Given the description of an element on the screen output the (x, y) to click on. 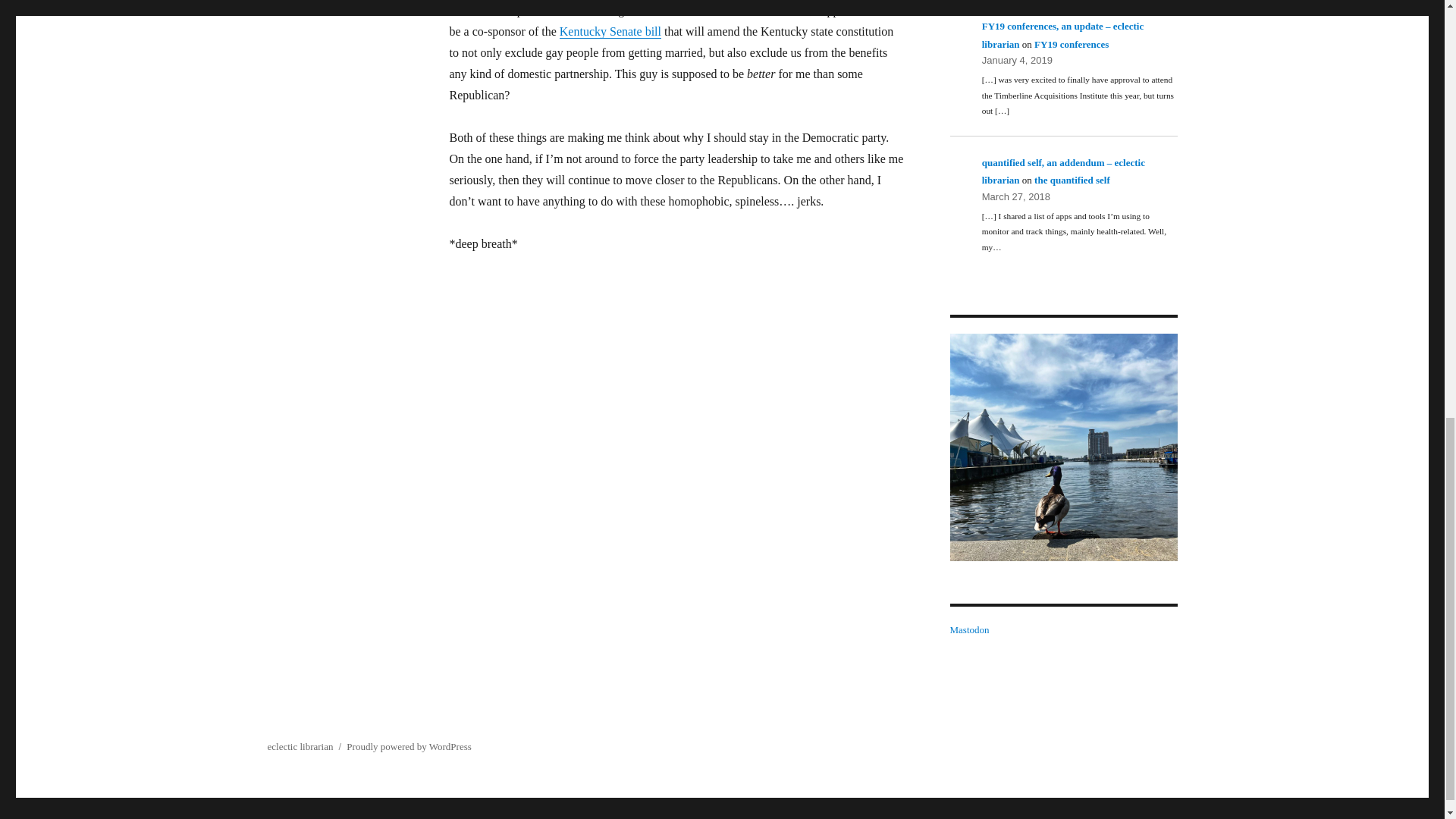
Kentucky Senate bill (610, 31)
Anna Creech (1062, 446)
